Given the description of an element on the screen output the (x, y) to click on. 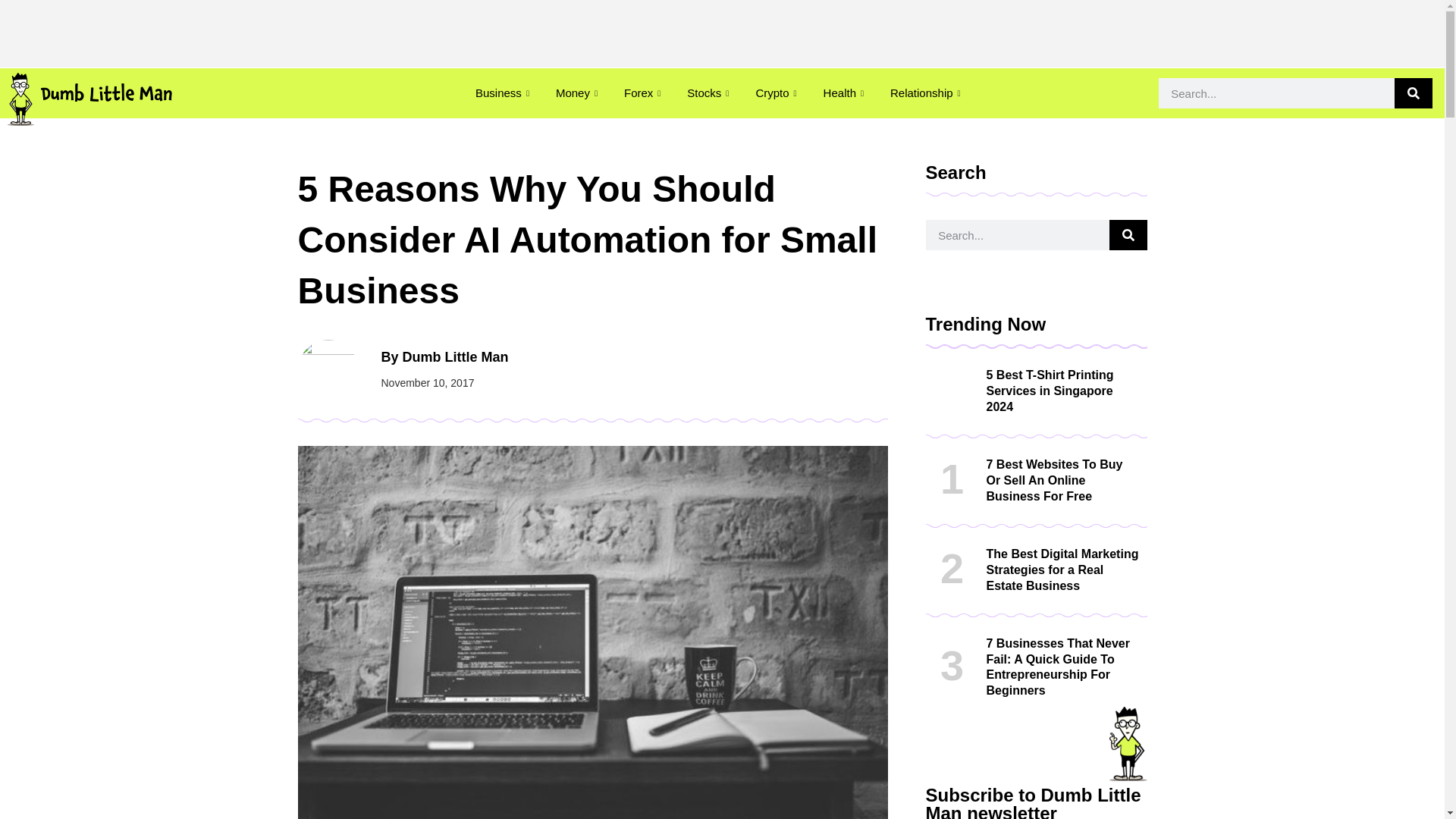
Business (504, 92)
